Given the description of an element on the screen output the (x, y) to click on. 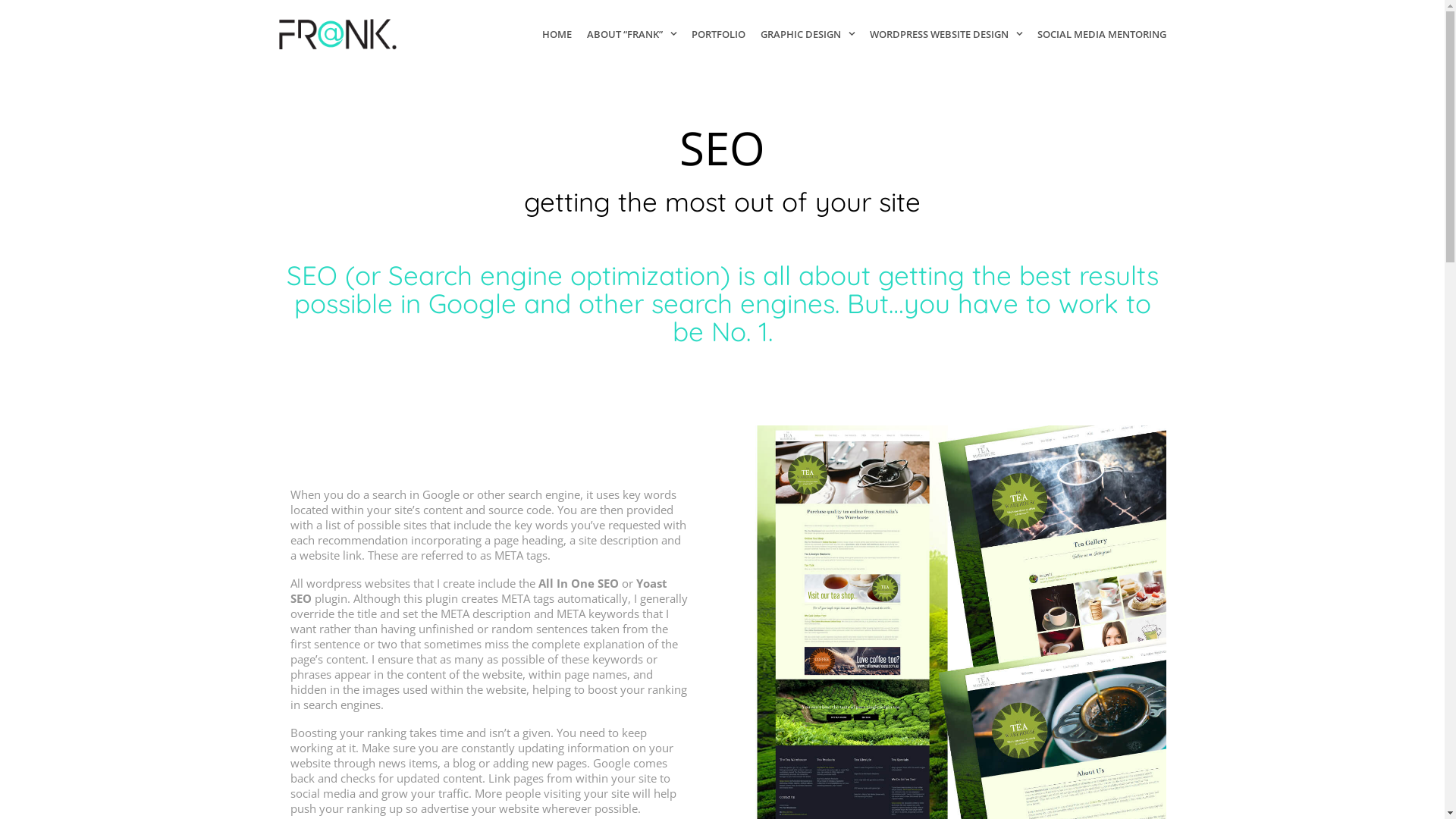
WORDPRESS WEBSITE DESIGN Element type: text (945, 34)
HOME Element type: text (555, 34)
SOCIAL MEDIA MENTORING Element type: text (1097, 34)
Frank Design Element type: hover (337, 33)
GRAPHIC DESIGN Element type: text (806, 34)
PORTFOLIO Element type: text (718, 34)
